Given the description of an element on the screen output the (x, y) to click on. 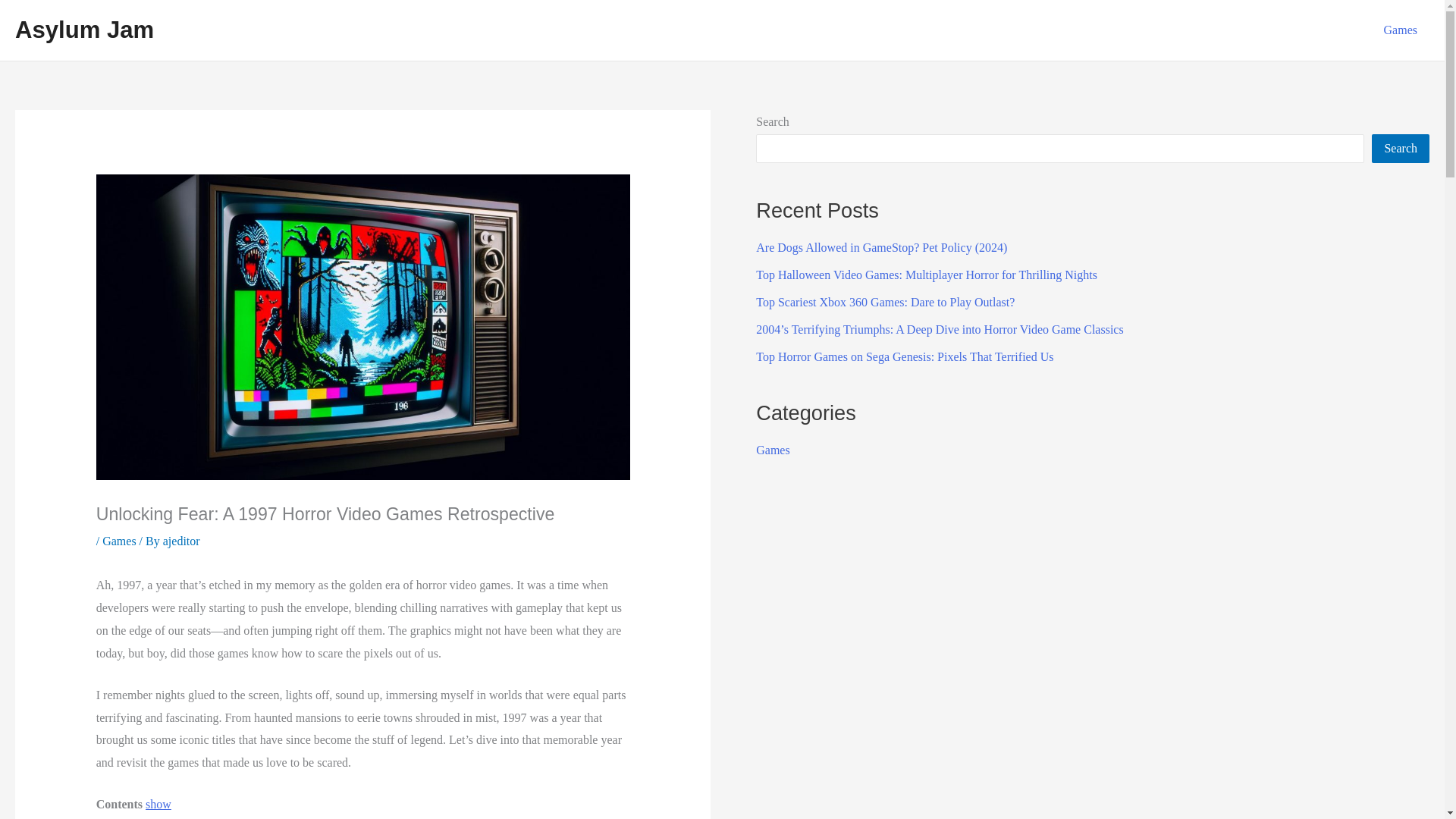
show (158, 803)
Games (118, 540)
Top Horror Games on Sega Genesis: Pixels That Terrified Us (903, 356)
ajeditor (181, 540)
Top Scariest Xbox 360 Games: Dare to Play Outlast? (884, 301)
Games (1400, 30)
Games (772, 449)
Search (1400, 148)
